Given the description of an element on the screen output the (x, y) to click on. 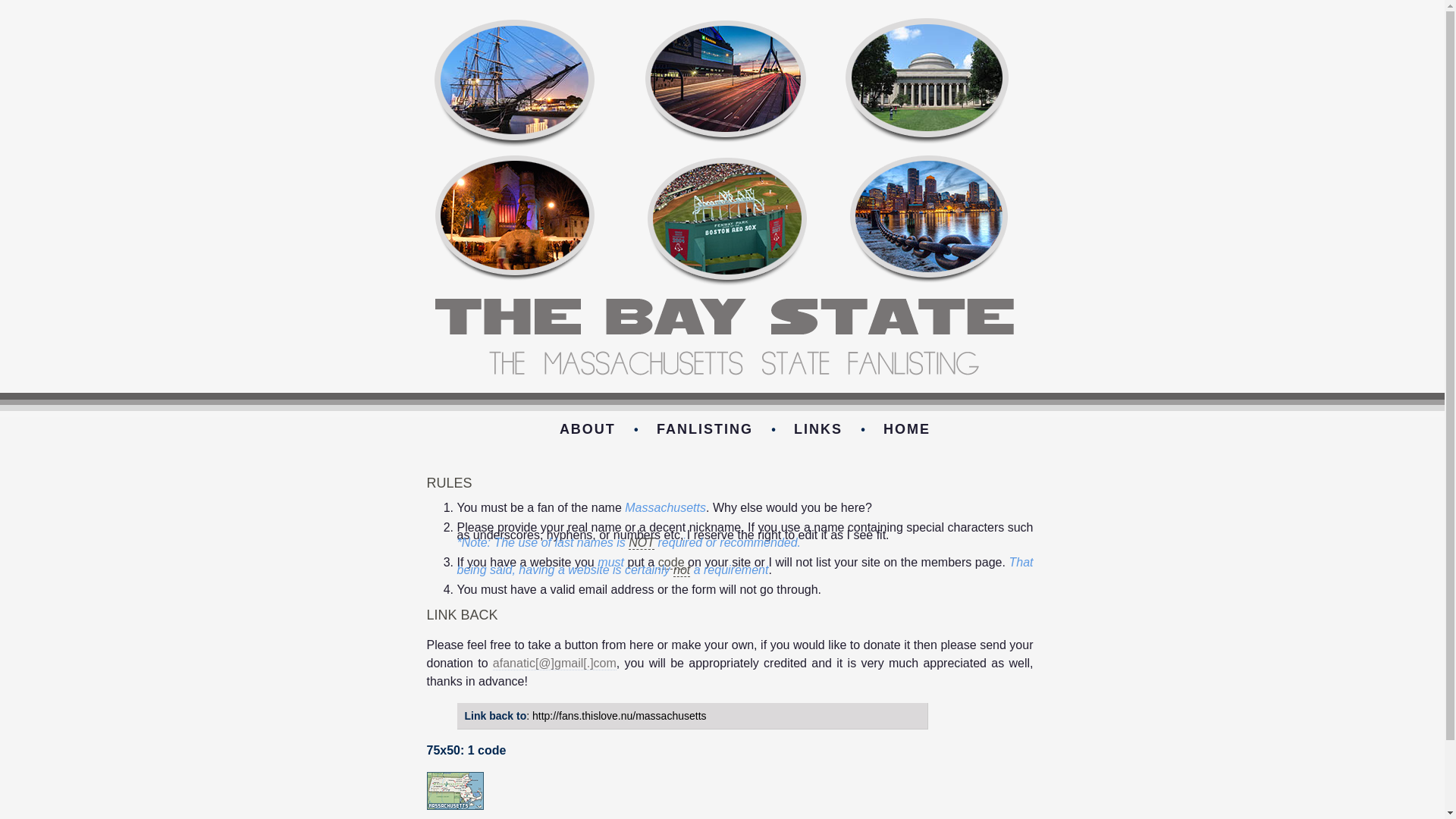
LINKS (818, 428)
FANLISTING (704, 428)
ABOUT (587, 428)
HOME (906, 428)
